Given the description of an element on the screen output the (x, y) to click on. 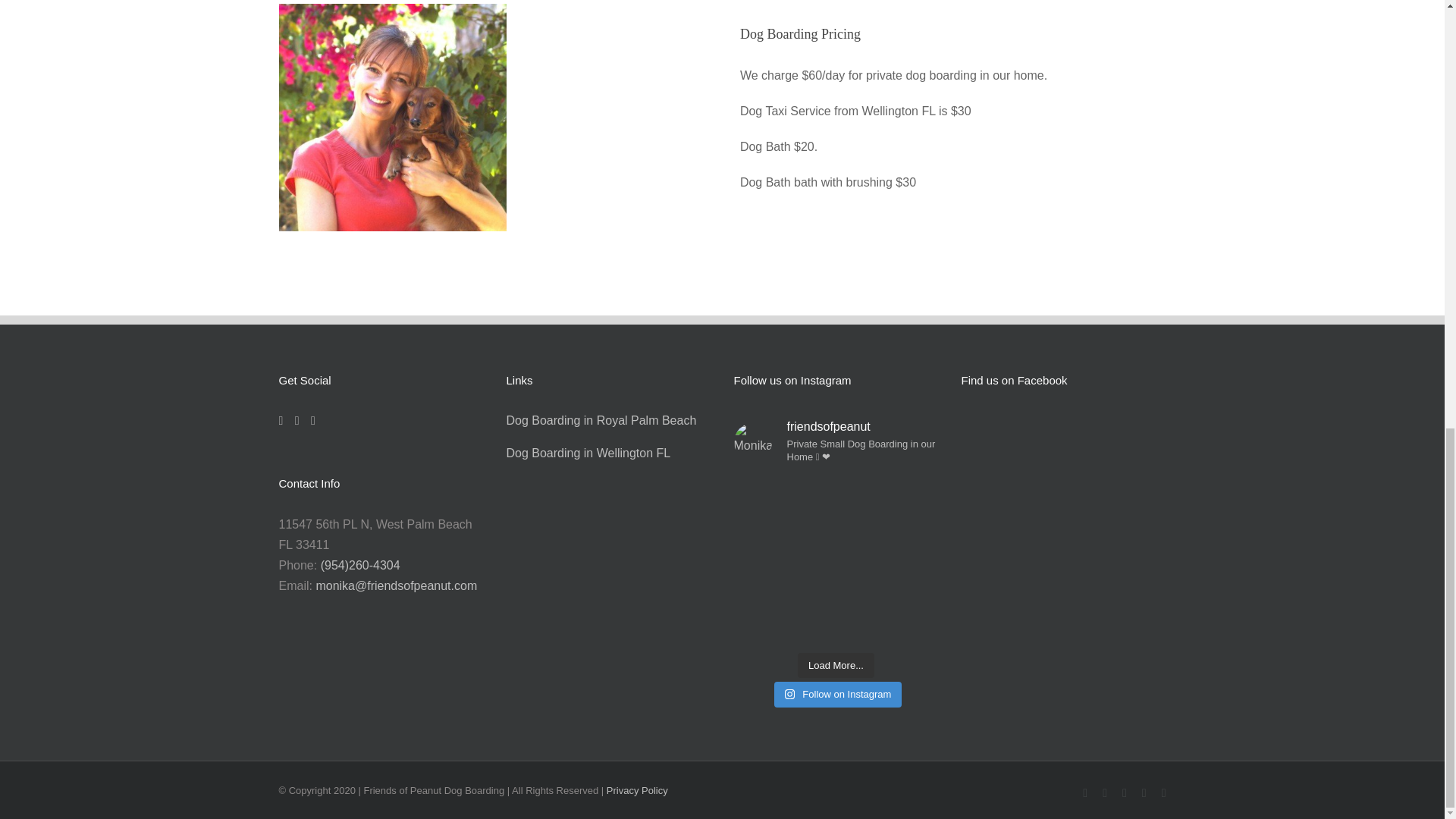
Dog Boarding in Wellington FL (588, 452)
Dog Boarding in Royal Palm Beach (601, 420)
Monika-Stefaniak-Friends-of-Peanut-photo (392, 117)
YouTube video player 1 (506, 43)
